Given the description of an element on the screen output the (x, y) to click on. 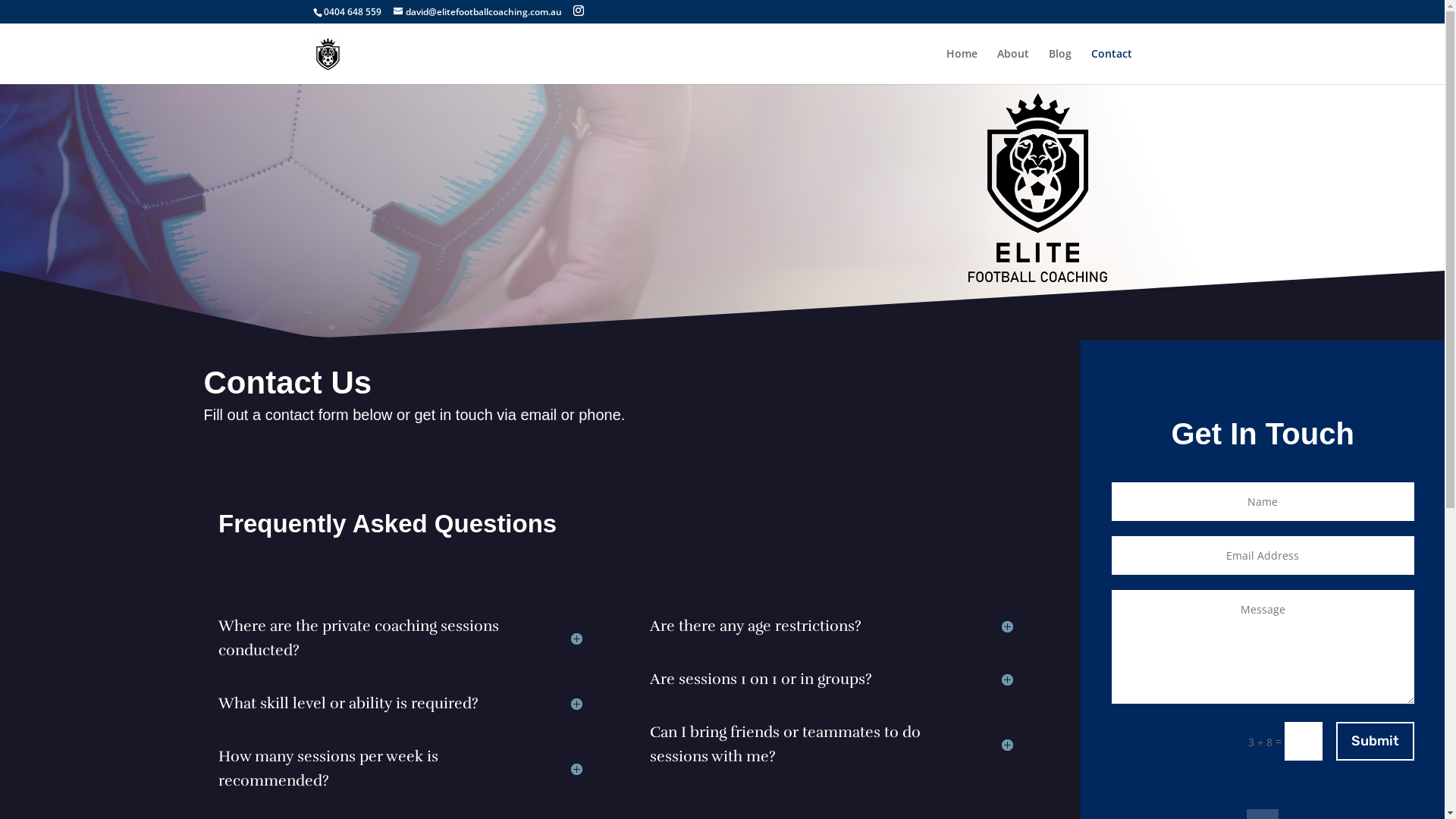
Blog Element type: text (1059, 66)
private soccer coaching Sydney Element type: hover (1037, 186)
Home Element type: text (961, 66)
Contact Element type: text (1110, 66)
About Element type: text (1012, 66)
david@elitefootballcoaching.com.au Element type: text (476, 11)
Submit Element type: text (1375, 740)
